Given the description of an element on the screen output the (x, y) to click on. 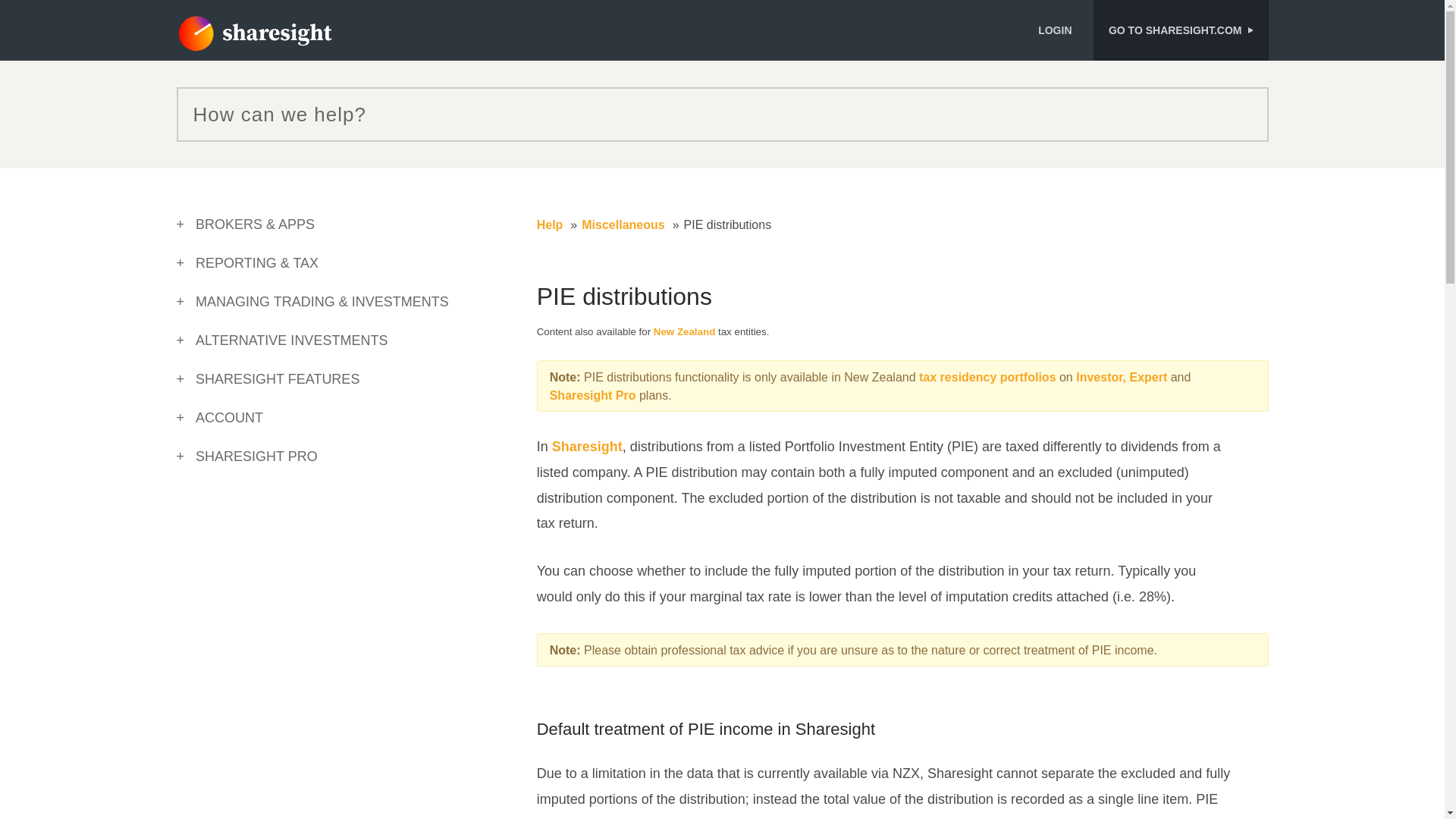
GO TO SHARESIGHT.COM (1180, 30)
Tax Residency of a Portfolio (988, 377)
Sharesight Help (253, 34)
LOGIN (1060, 30)
